Given the description of an element on the screen output the (x, y) to click on. 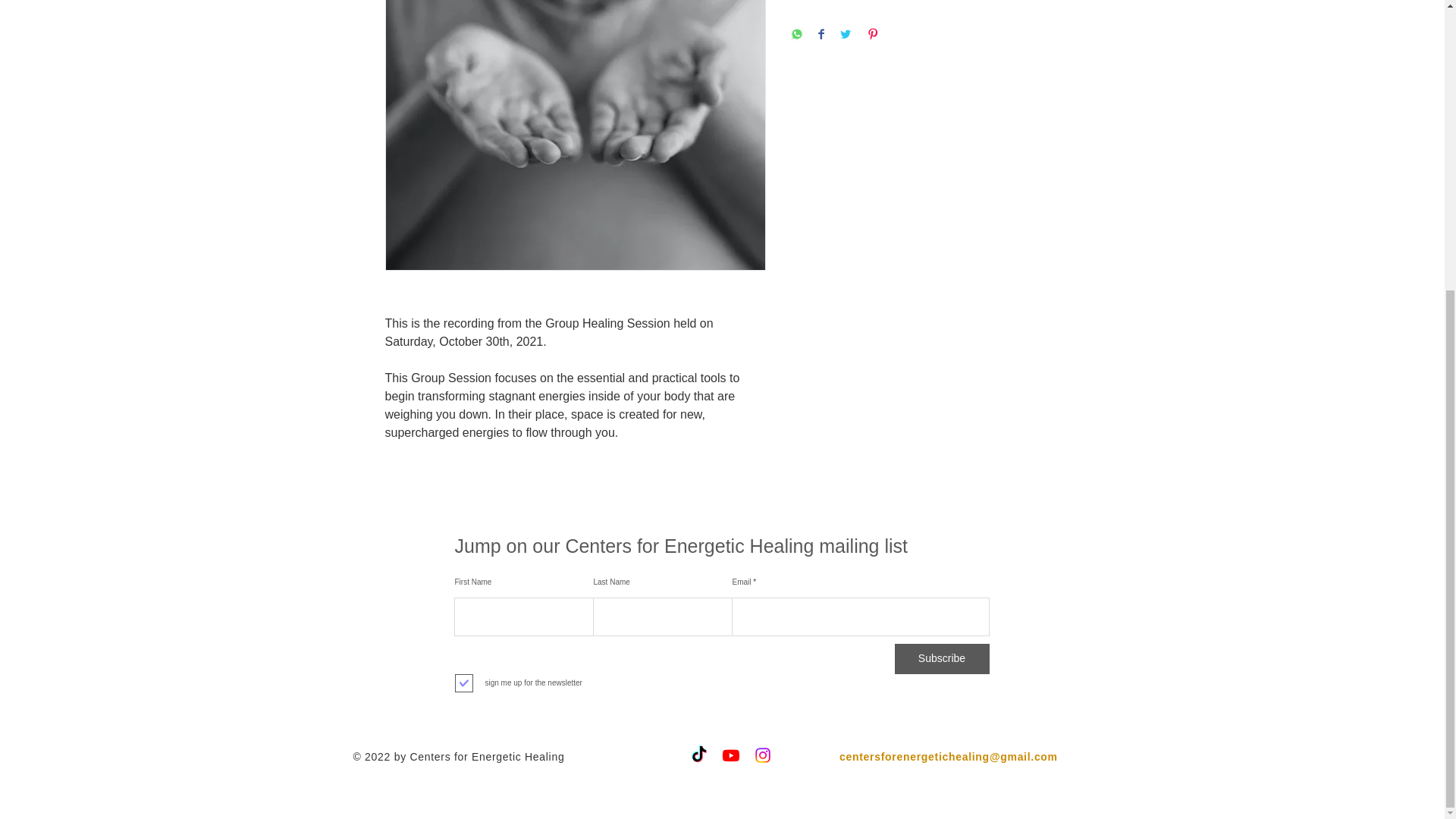
Subscribe (942, 658)
